Given the description of an element on the screen output the (x, y) to click on. 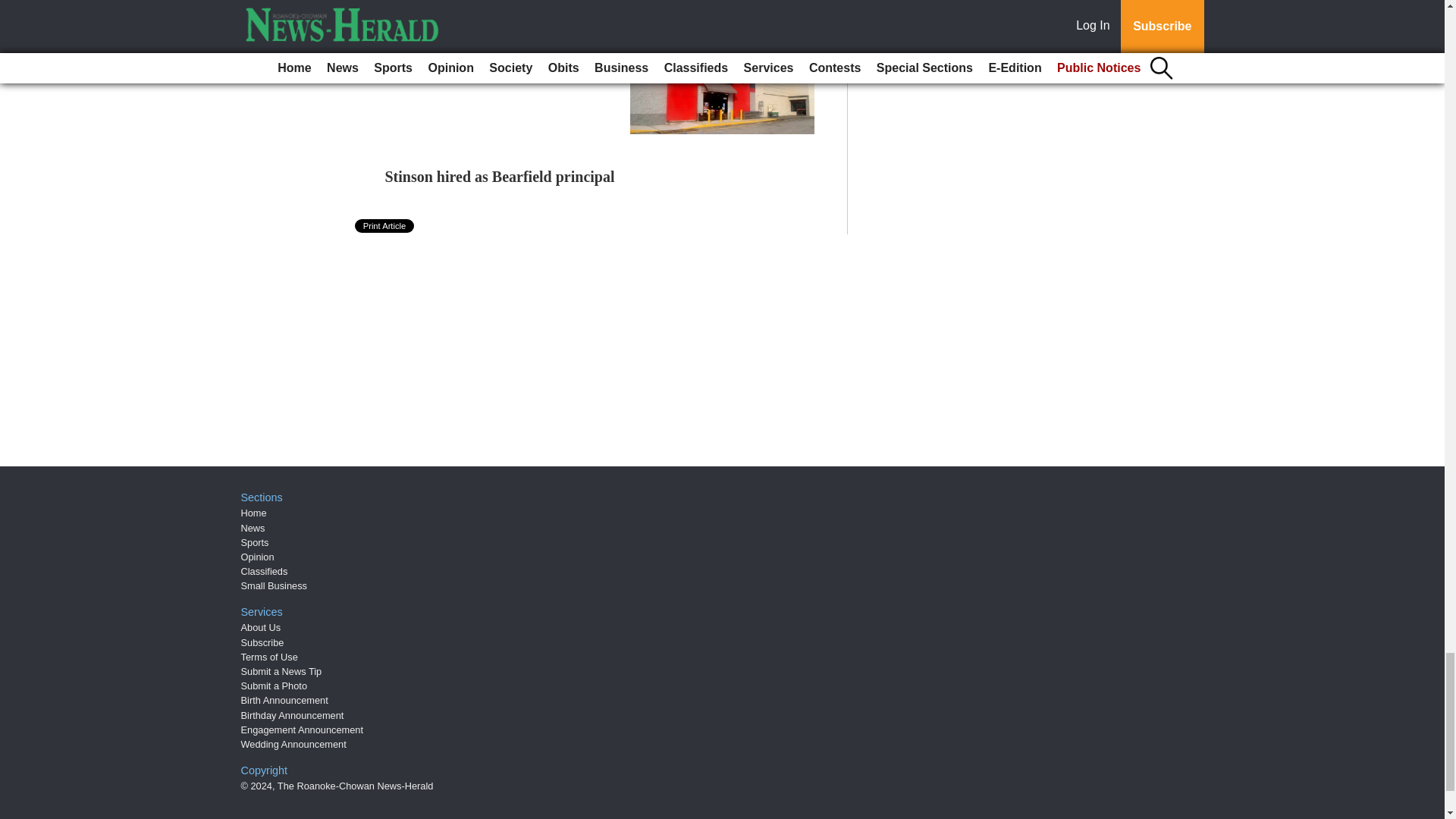
Harbor Freight Tools opens Ahoskie location (474, 51)
Stinson hired as Bearfield principal (499, 176)
